Given the description of an element on the screen output the (x, y) to click on. 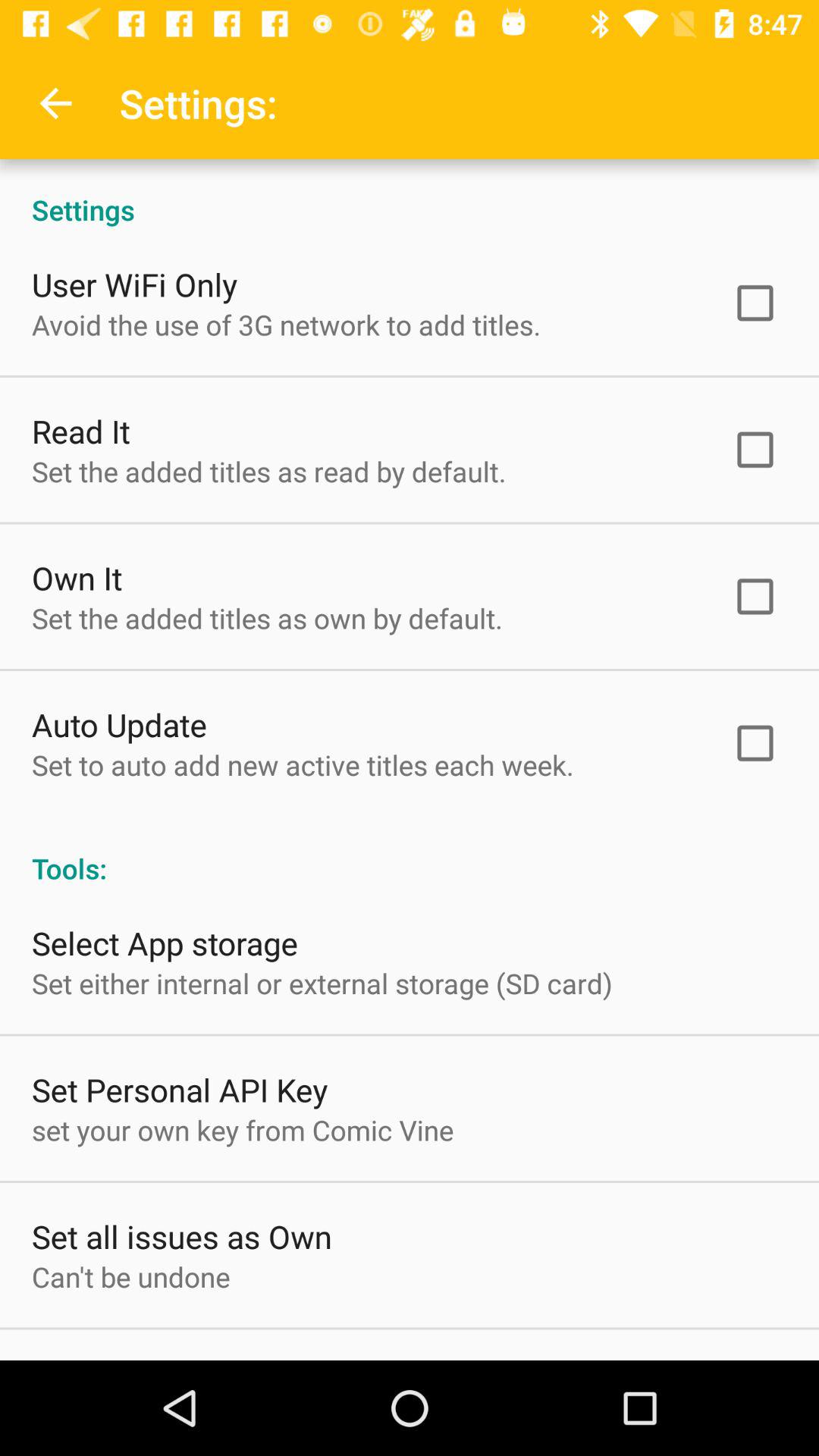
choose item next to settings: icon (55, 103)
